Given the description of an element on the screen output the (x, y) to click on. 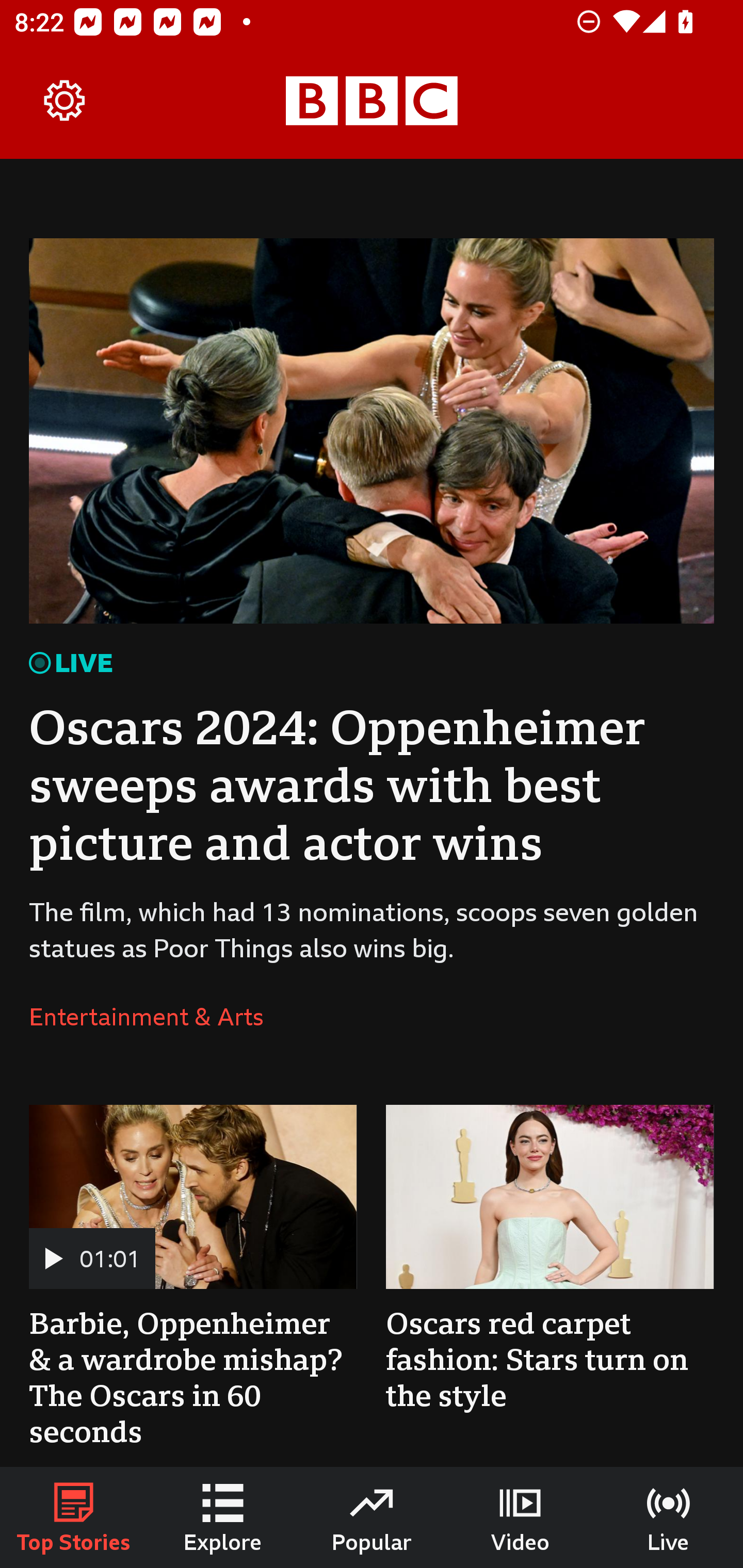
Settings (64, 100)
Explore (222, 1517)
Popular (371, 1517)
Video (519, 1517)
Live (668, 1517)
